Given the description of an element on the screen output the (x, y) to click on. 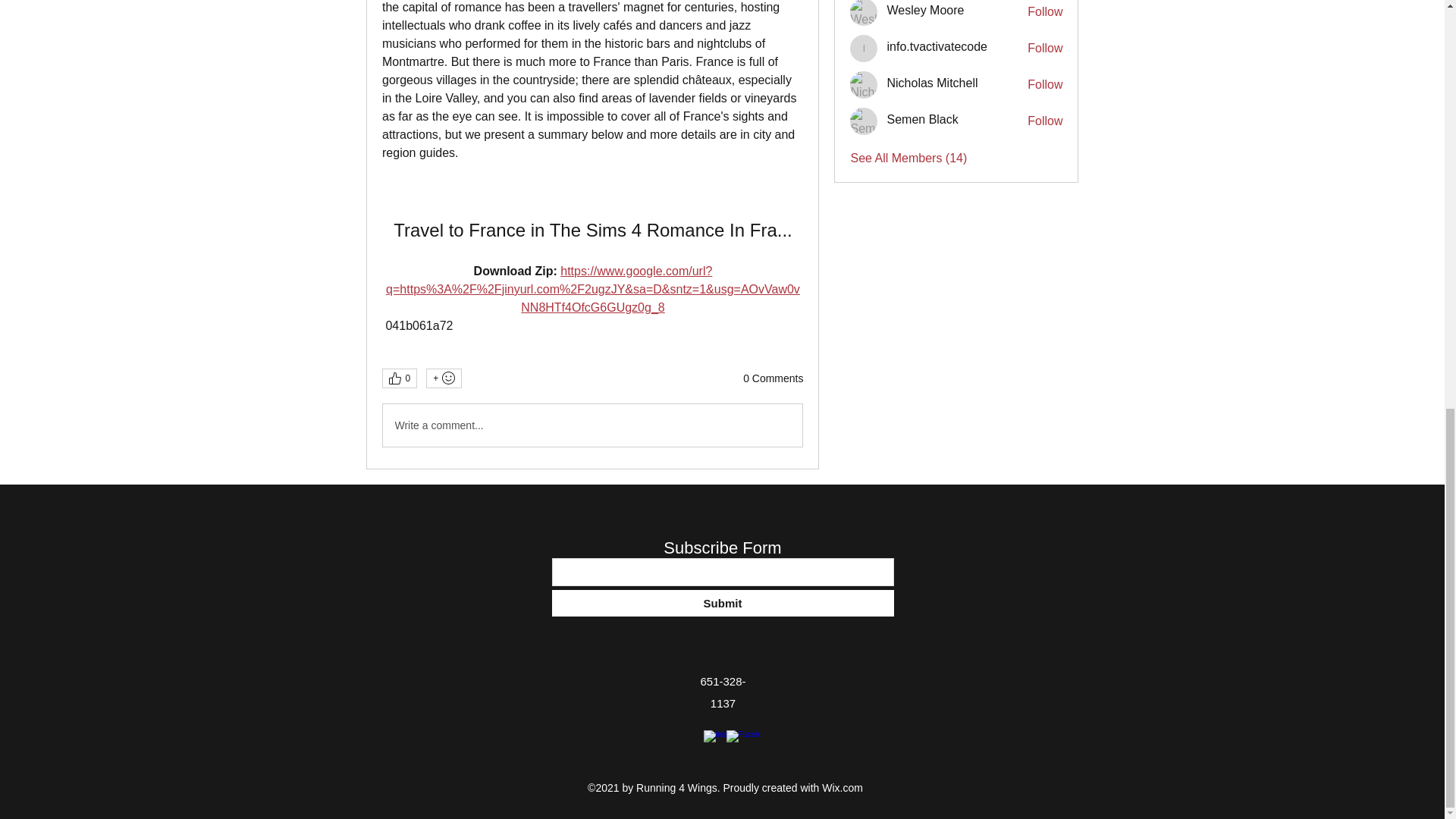
Semen Black (922, 119)
info.tvactivatecode (936, 46)
Nicholas Mitchell (931, 83)
Semen Black (863, 121)
Follow (1044, 121)
Wesley Moore (924, 10)
info.tvactivatecode (863, 48)
Follow (1044, 48)
Wesley Moore (924, 10)
